Given the description of an element on the screen output the (x, y) to click on. 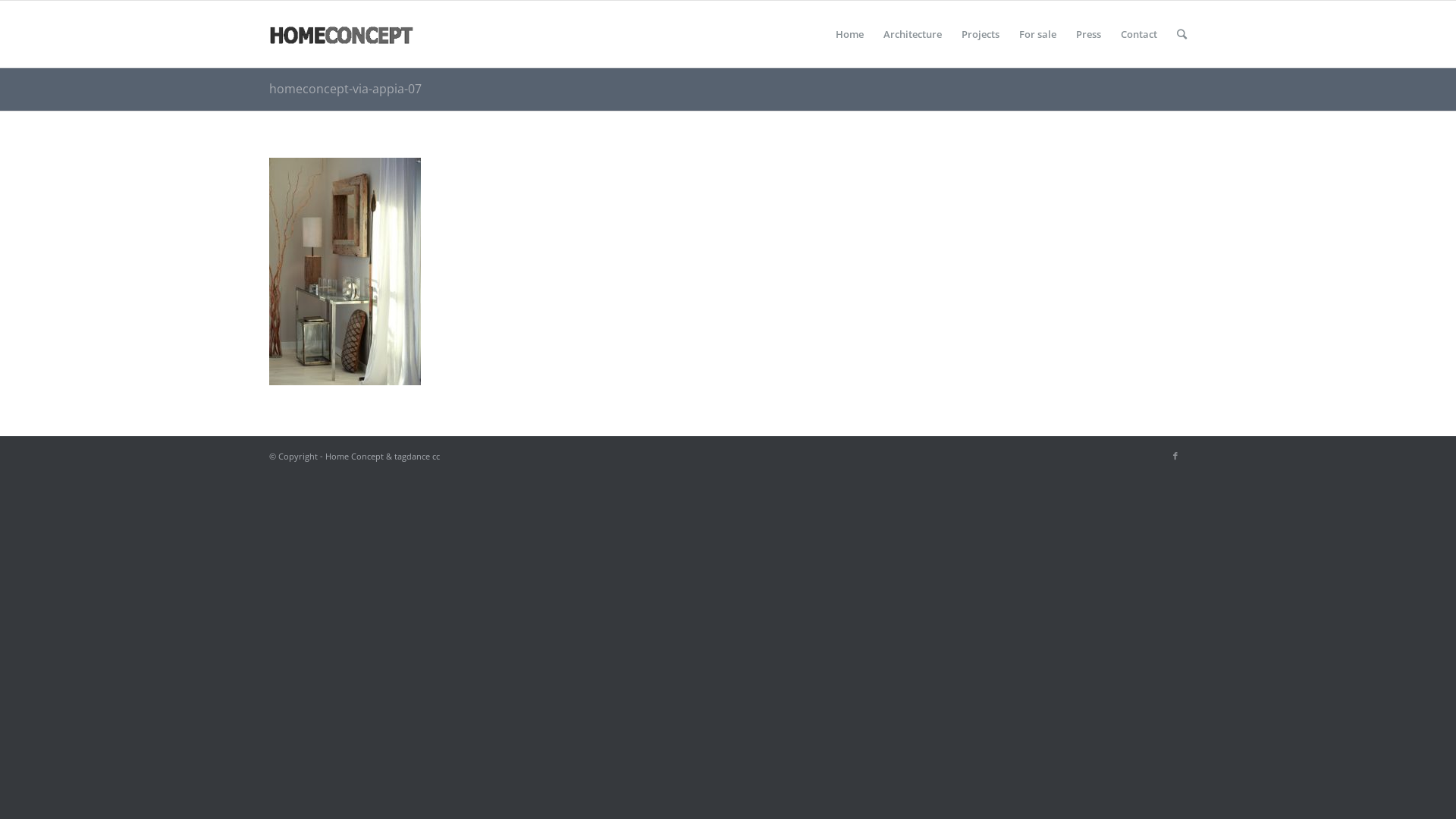
Press Element type: text (1088, 33)
Home Element type: text (849, 33)
Architecture Element type: text (912, 33)
For sale Element type: text (1037, 33)
Projects Element type: text (980, 33)
homeconcept-via-appia-07 Element type: text (345, 88)
Facebook Element type: hover (1175, 455)
Contact Element type: text (1138, 33)
